Given the description of an element on the screen output the (x, y) to click on. 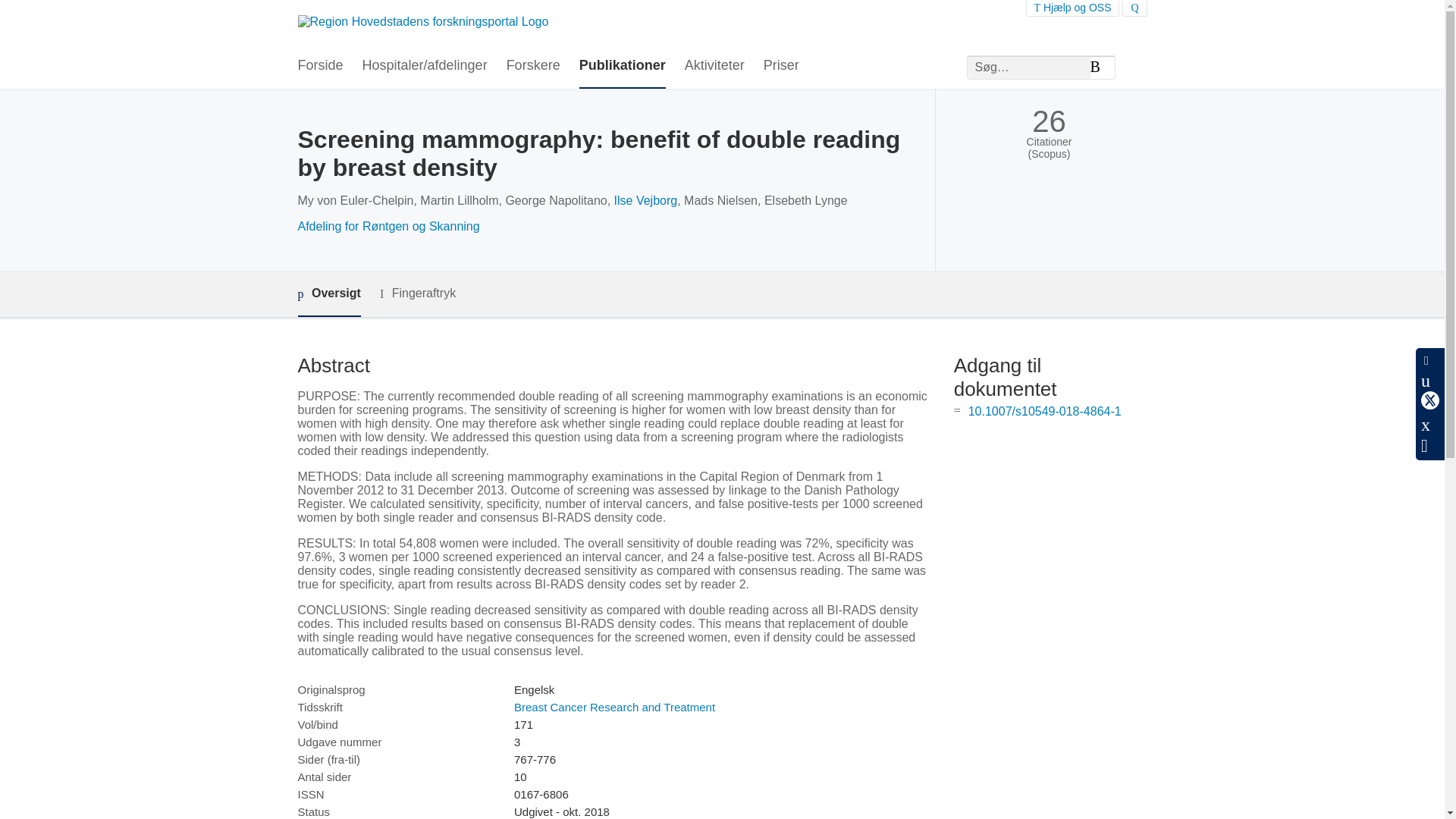
Breast Cancer Research and Treatment (613, 707)
Forside (319, 66)
Region Hovedstadens forskningsportal Forside (422, 21)
Forskere (533, 66)
Fingeraftryk (417, 293)
Ilse Vejborg (646, 200)
Publikationer (622, 66)
Oversigt (328, 293)
Aktiviteter (714, 66)
